Given the description of an element on the screen output the (x, y) to click on. 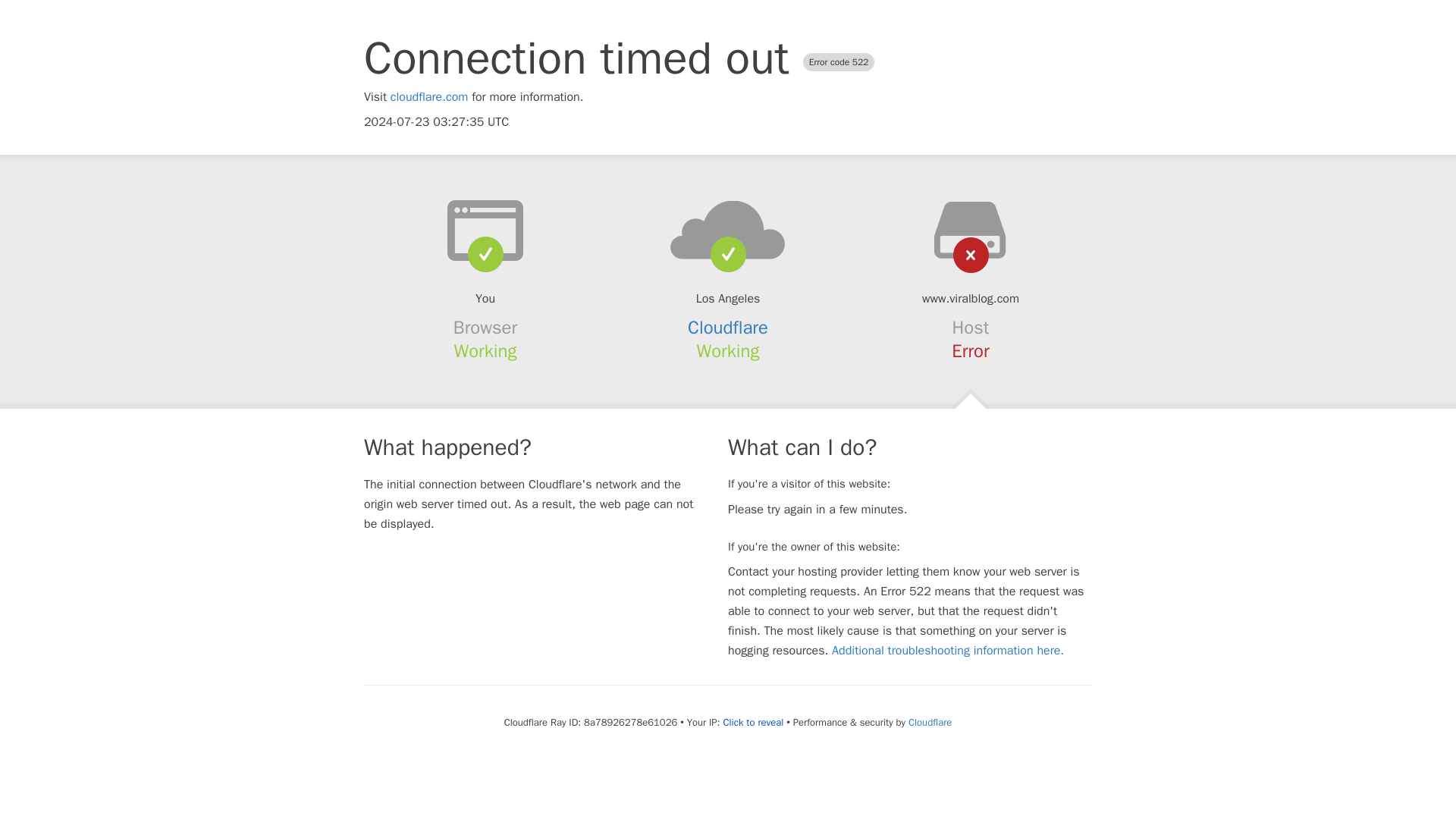
Cloudflare (930, 721)
Additional troubleshooting information here. (947, 650)
Click to reveal (752, 722)
cloudflare.com (429, 96)
Cloudflare (727, 327)
